Given the description of an element on the screen output the (x, y) to click on. 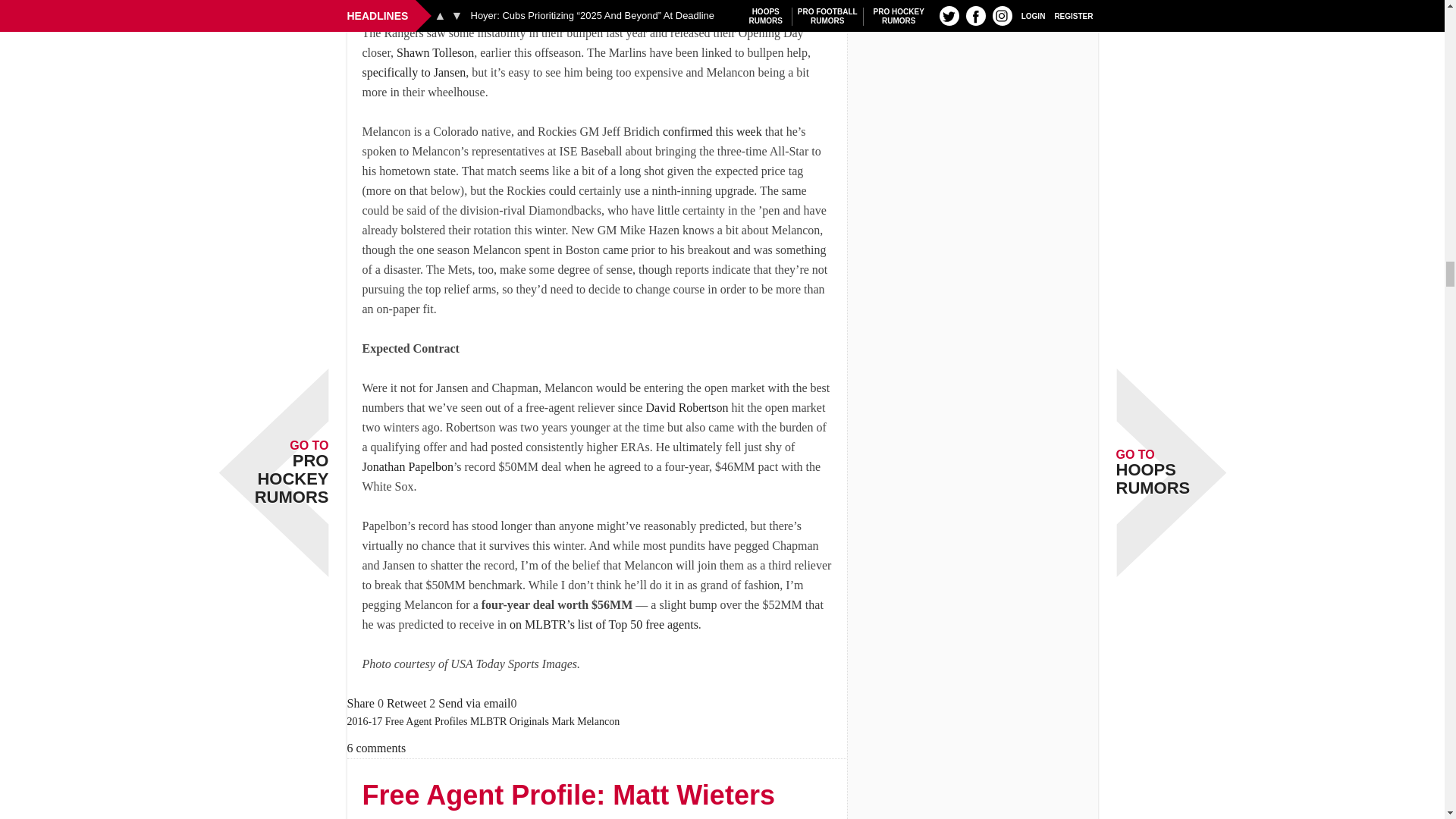
Send Free Agent Profile: Mark Melancon with an email (474, 703)
Share 'Free Agent Profile: Mark Melancon' on Facebook (360, 703)
Retweet 'Free Agent Profile: Mark Melancon' on Twitter (406, 703)
